Given the description of an element on the screen output the (x, y) to click on. 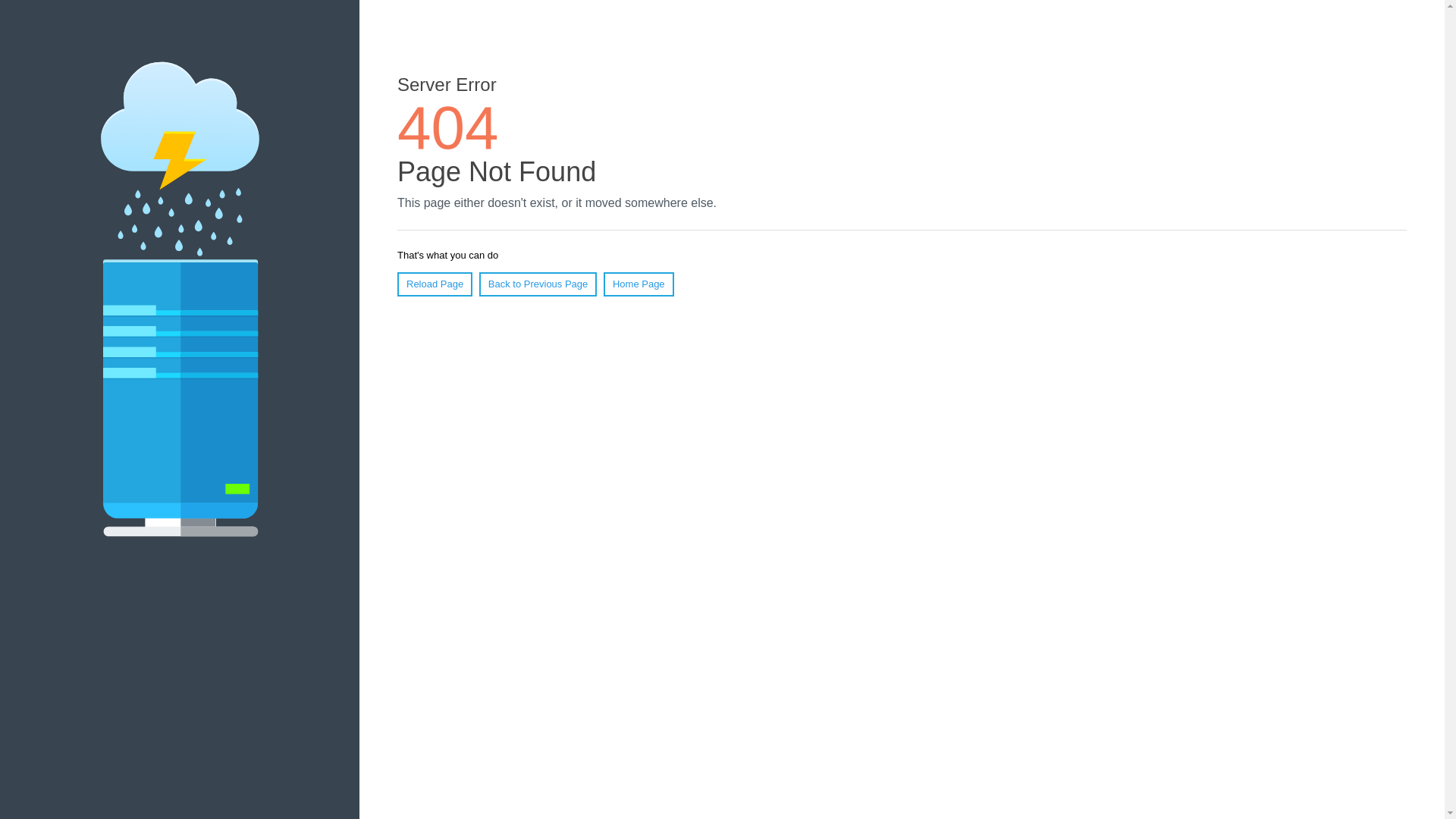
Reload Page Element type: text (434, 284)
Back to Previous Page Element type: text (538, 284)
Home Page Element type: text (638, 284)
